Given the description of an element on the screen output the (x, y) to click on. 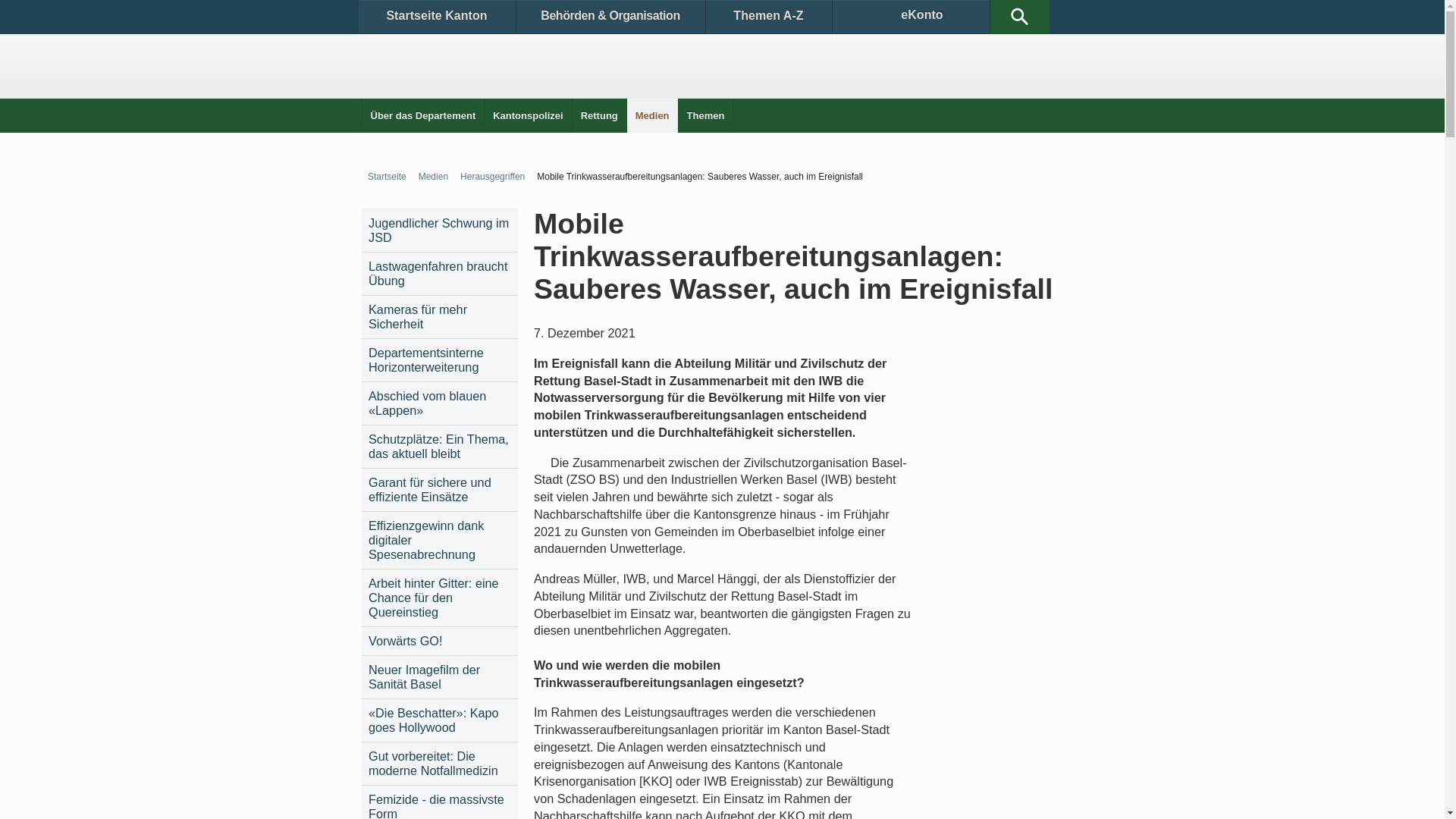
Medien Element type: text (430, 176)
Kantonspolizei Element type: text (527, 115)
Medienkontakte Element type: text (701, 47)
Herausgegriffen Element type: text (489, 176)
Startseite Kanton Element type: text (435, 17)
Medien Element type: text (652, 115)
Startseite Element type: text (383, 176)
Departementsinterne Horizonterweiterung Element type: text (439, 360)
Medienmitteilungen Element type: text (415, 47)
Themen Element type: text (705, 115)
Effizienzgewinn dank digitaler Spesenabrechnung Element type: text (439, 539)
Herausgegriffen Element type: text (796, 47)
Themen A-Z Element type: text (768, 17)
eKonto Element type: text (910, 17)
Gut vorbereitet: Die moderne Notfallmedizin Element type: text (439, 763)
Dokumentationen Element type: text (523, 47)
Jugendlicher Schwung im JSD Element type: text (439, 230)
Medienclips Element type: text (614, 47)
Rettung Element type: text (599, 115)
